Given the description of an element on the screen output the (x, y) to click on. 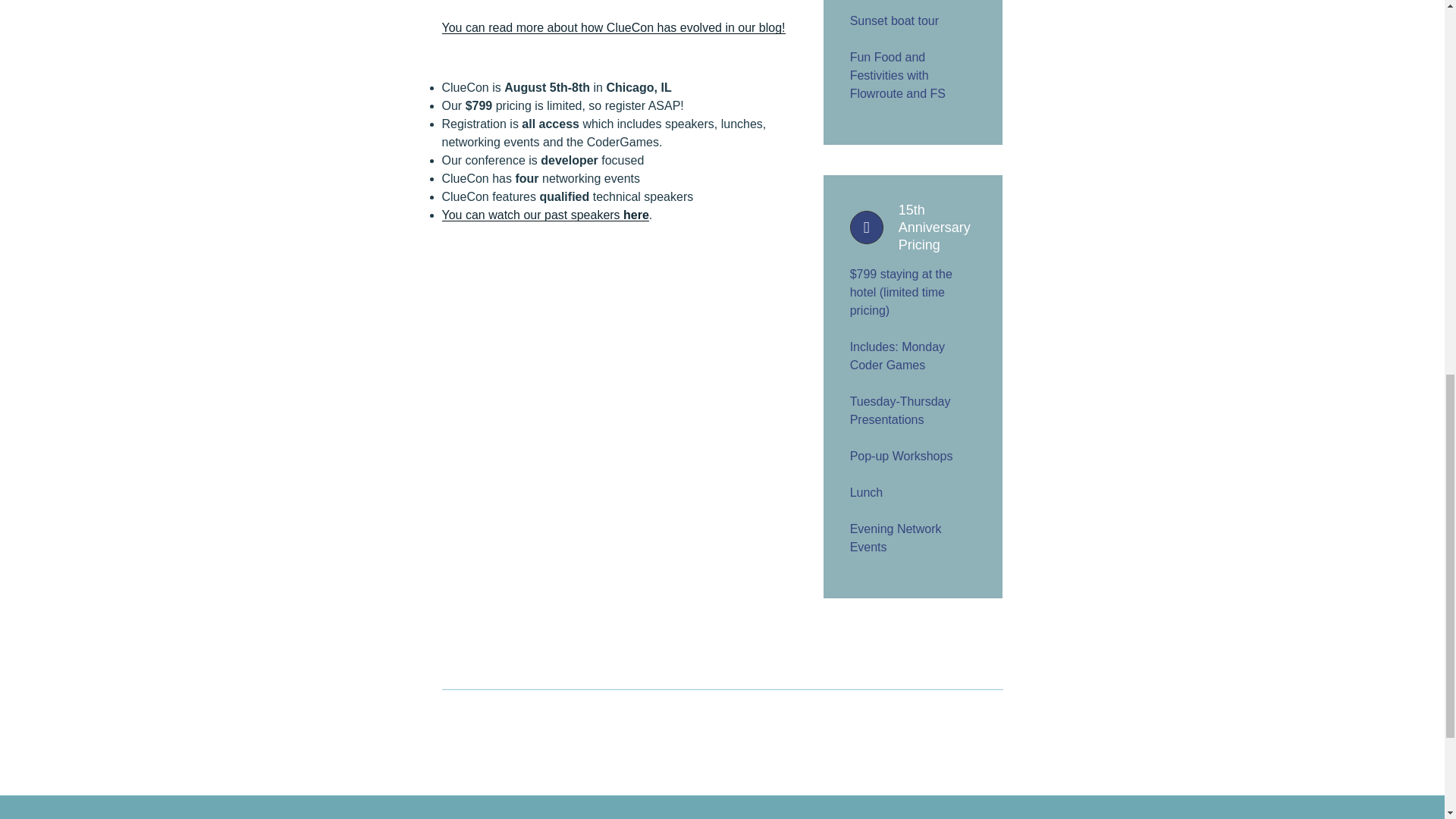
You can watch our past speakers here (544, 214)
You can read more about how ClueCon has evolved in our blog! (612, 27)
